Given the description of an element on the screen output the (x, y) to click on. 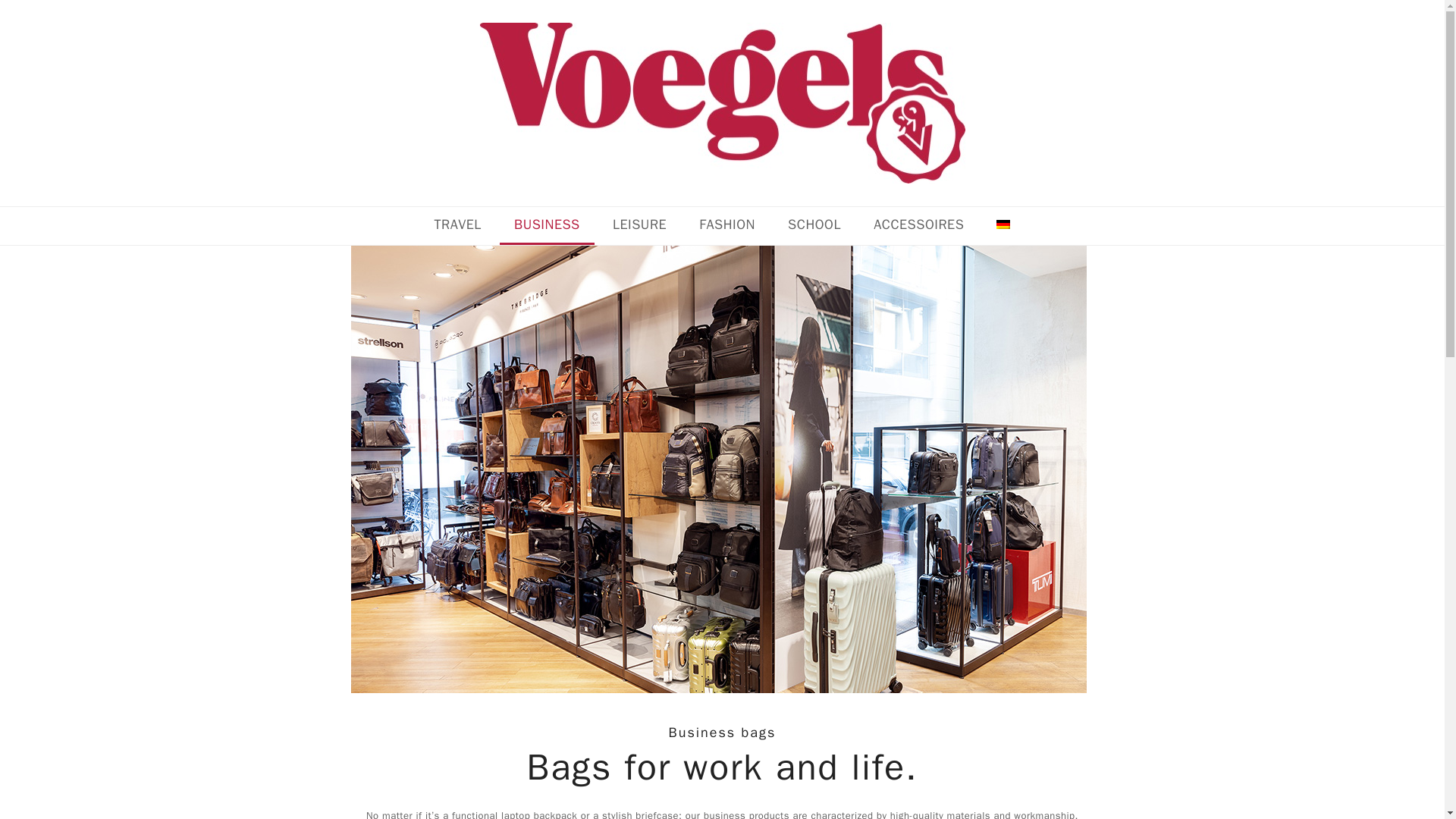
BUSINESS (547, 225)
ACCESSOIRES (918, 225)
SCHOOL (814, 225)
TRAVEL (457, 225)
FASHION (727, 225)
LEISURE (639, 225)
